Given the description of an element on the screen output the (x, y) to click on. 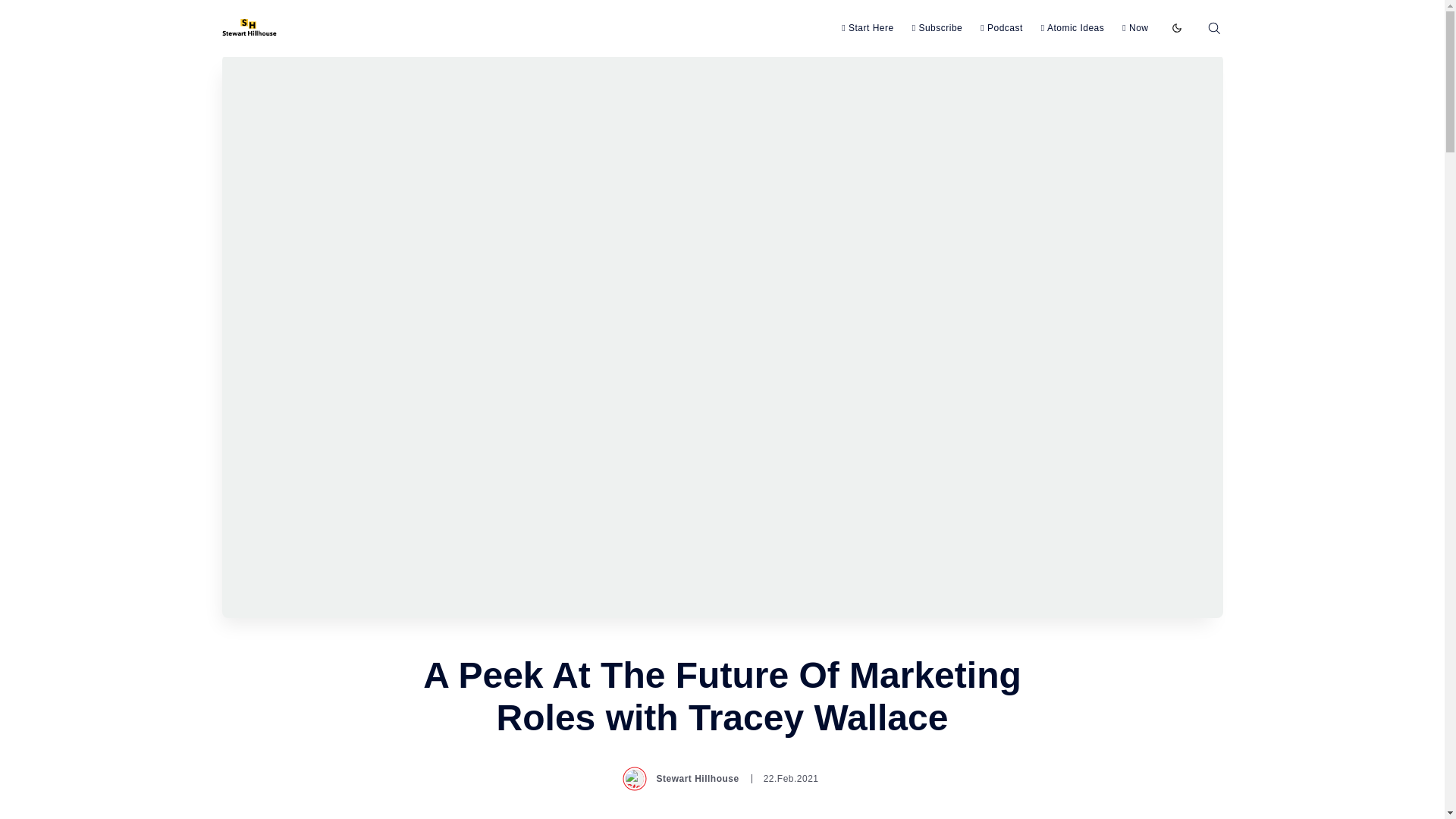
Enable dark mode (1176, 25)
Stewart Hillhouse (682, 778)
22 February 2021 (784, 777)
Enable dark mode (1176, 25)
